Given the description of an element on the screen output the (x, y) to click on. 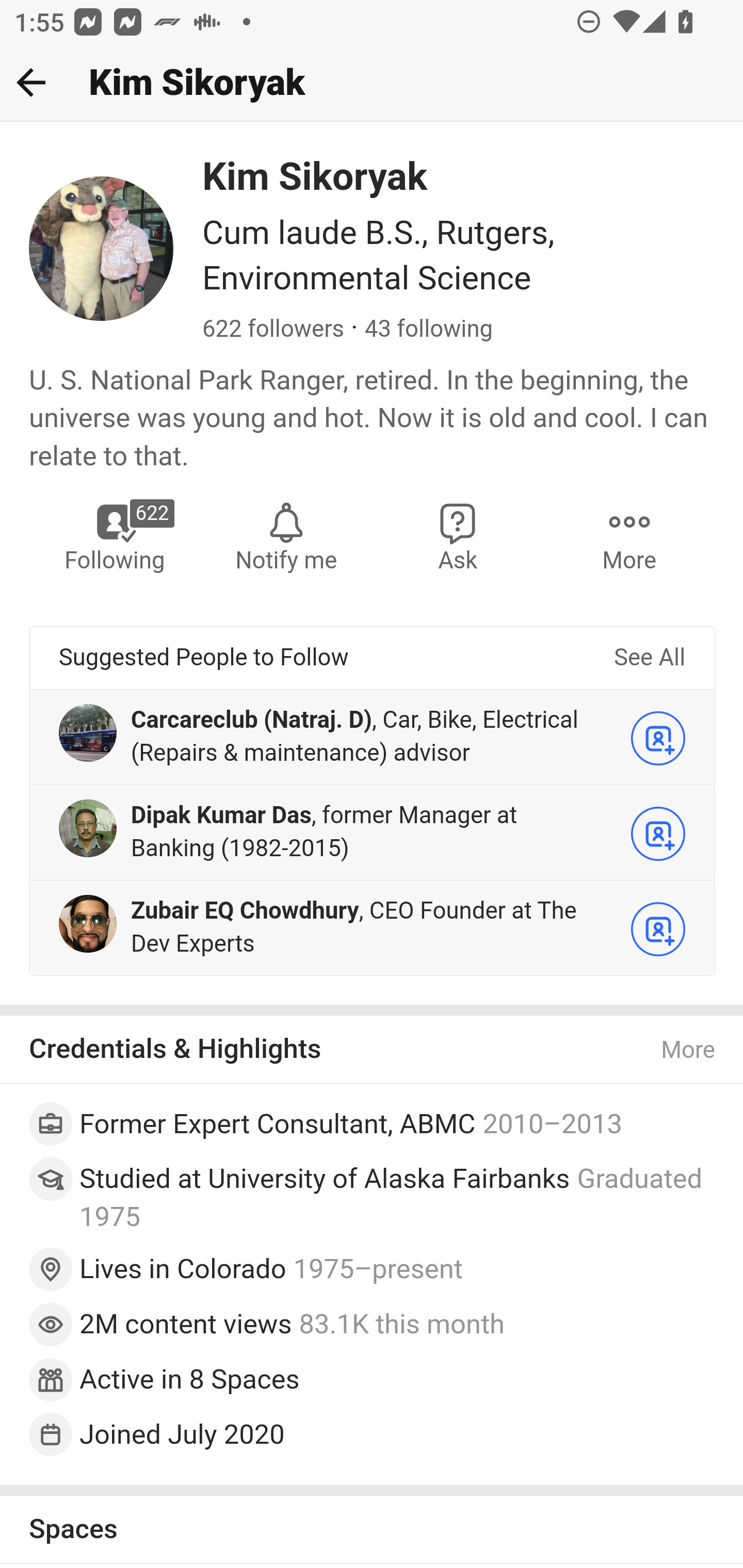
Back (30, 82)
622 followers (273, 329)
43 following (428, 329)
Following Kim Sikoryak 622 Following (115, 536)
Notify me (285, 536)
Ask (458, 536)
More (628, 536)
See All (649, 657)
Profile photo for Carcareclub (Natraj. D) (87, 732)
Carcareclub (Natraj. D) (251, 719)
Follow Carcareclub (Natraj. D) (658, 737)
Profile photo for Dipak Kumar Das (87, 827)
Dipak Kumar Das (221, 815)
Follow Dipak Kumar Das (658, 833)
Profile photo for Zubair EQ Chowdhury (87, 923)
Zubair EQ Chowdhury (244, 910)
Follow Zubair EQ Chowdhury (658, 929)
More (688, 1050)
